Given the description of an element on the screen output the (x, y) to click on. 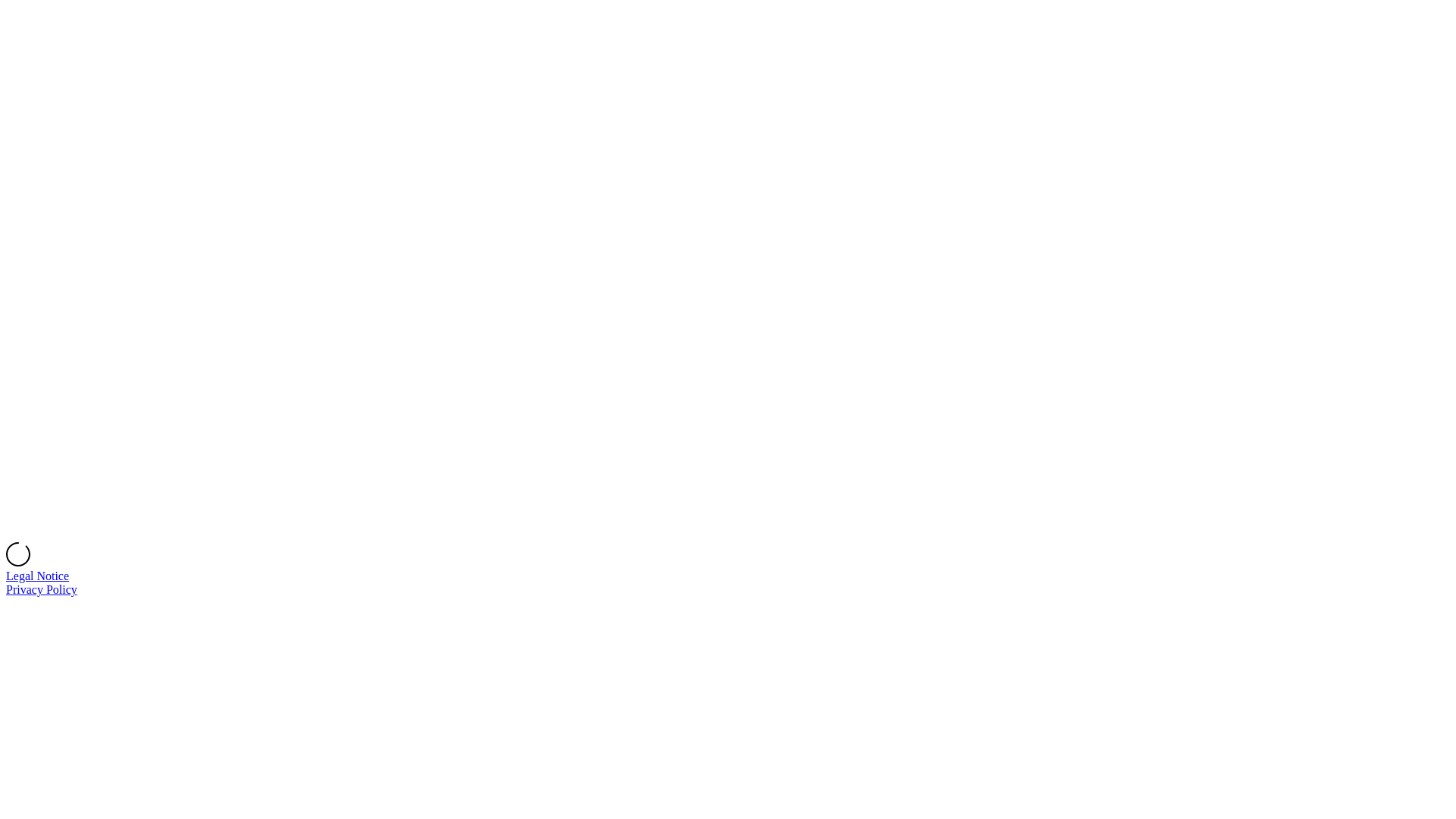
Legal Notice Element type: text (37, 575)
Privacy Policy Element type: text (41, 589)
Jimdo Logo Element type: hover (727, 274)
